Given the description of an element on the screen output the (x, y) to click on. 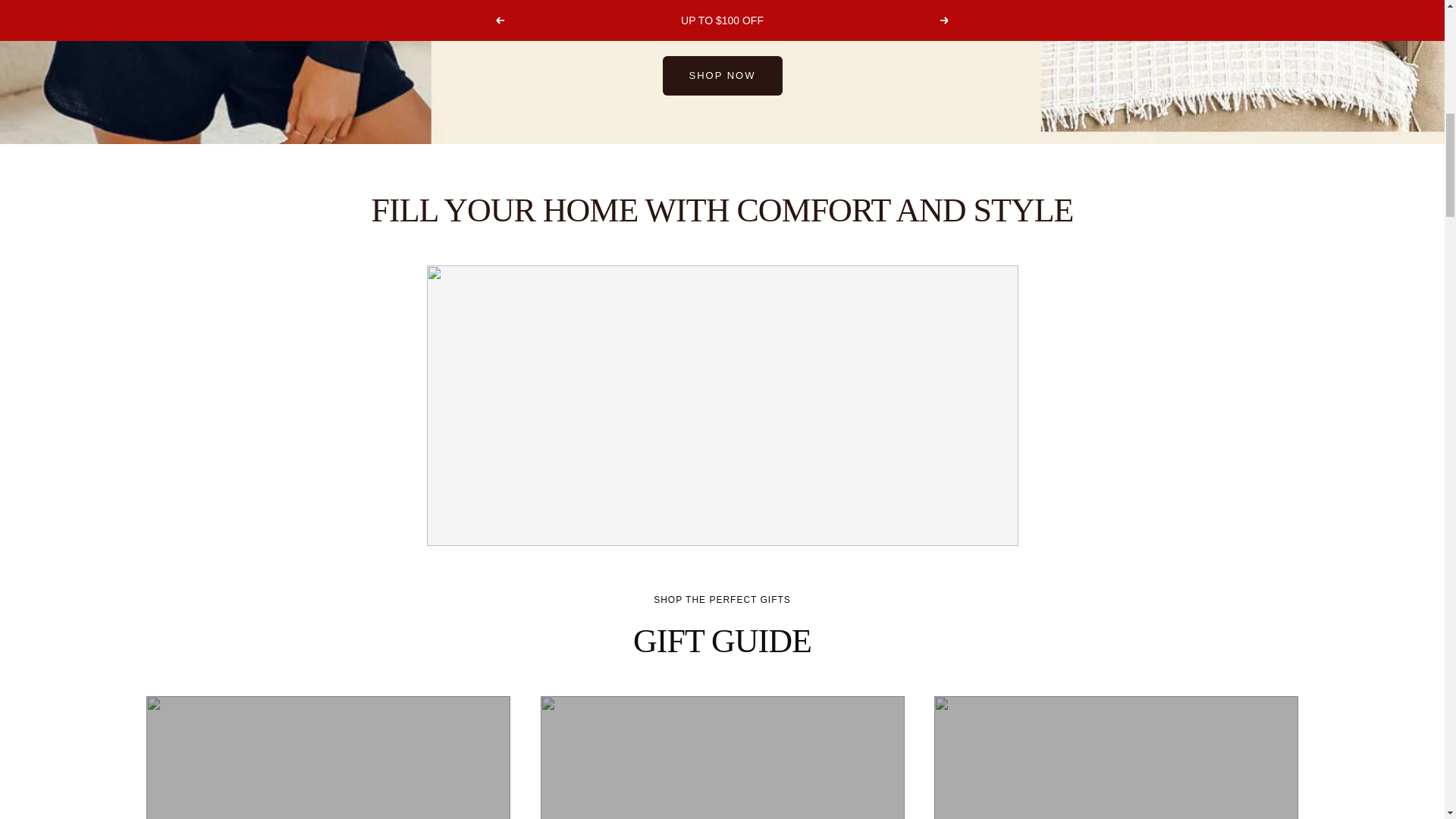
SHOP COLLECTION (1116, 757)
SHOP COLLECTION (722, 757)
SHOP COLLECTION (329, 757)
SHOP NOW (722, 75)
